Given the description of an element on the screen output the (x, y) to click on. 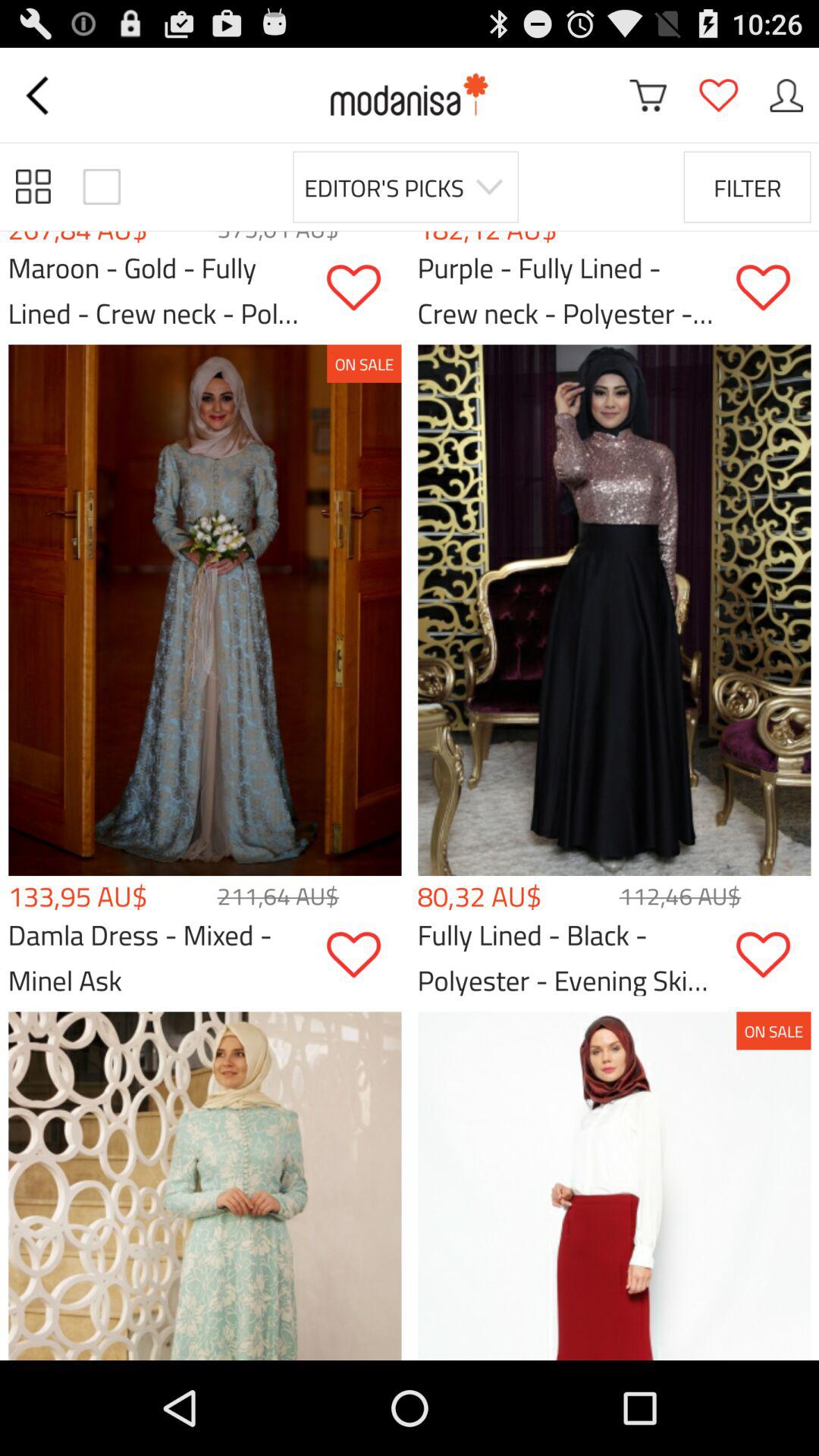
view my user profile (786, 95)
